Given the description of an element on the screen output the (x, y) to click on. 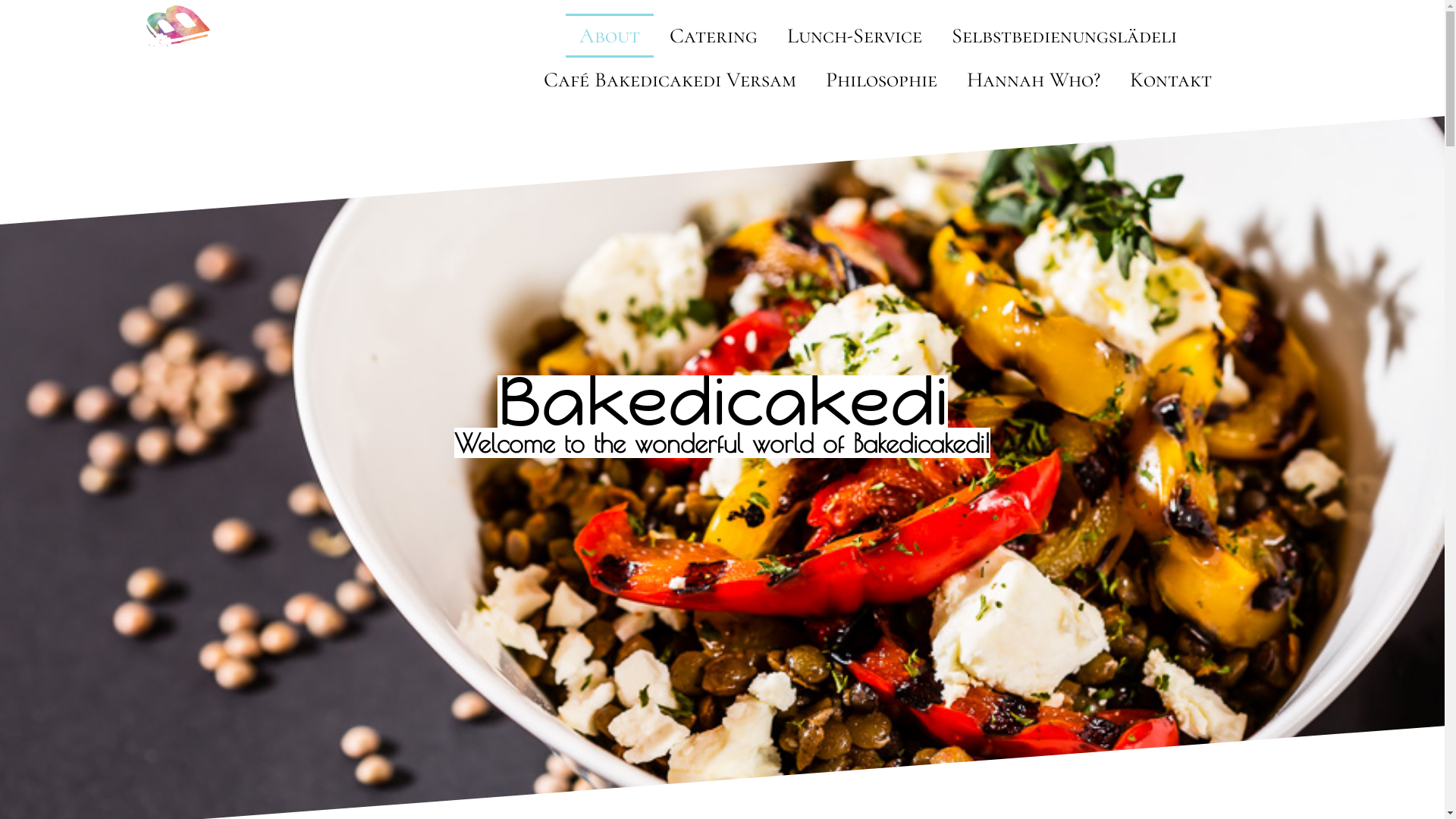
Catering Element type: text (712, 35)
Lunch-Service Element type: text (854, 35)
Kontakt Element type: text (1170, 79)
Hannah Who? Element type: text (1033, 79)
Philosophie Element type: text (881, 79)
About Element type: text (609, 35)
